Given the description of an element on the screen output the (x, y) to click on. 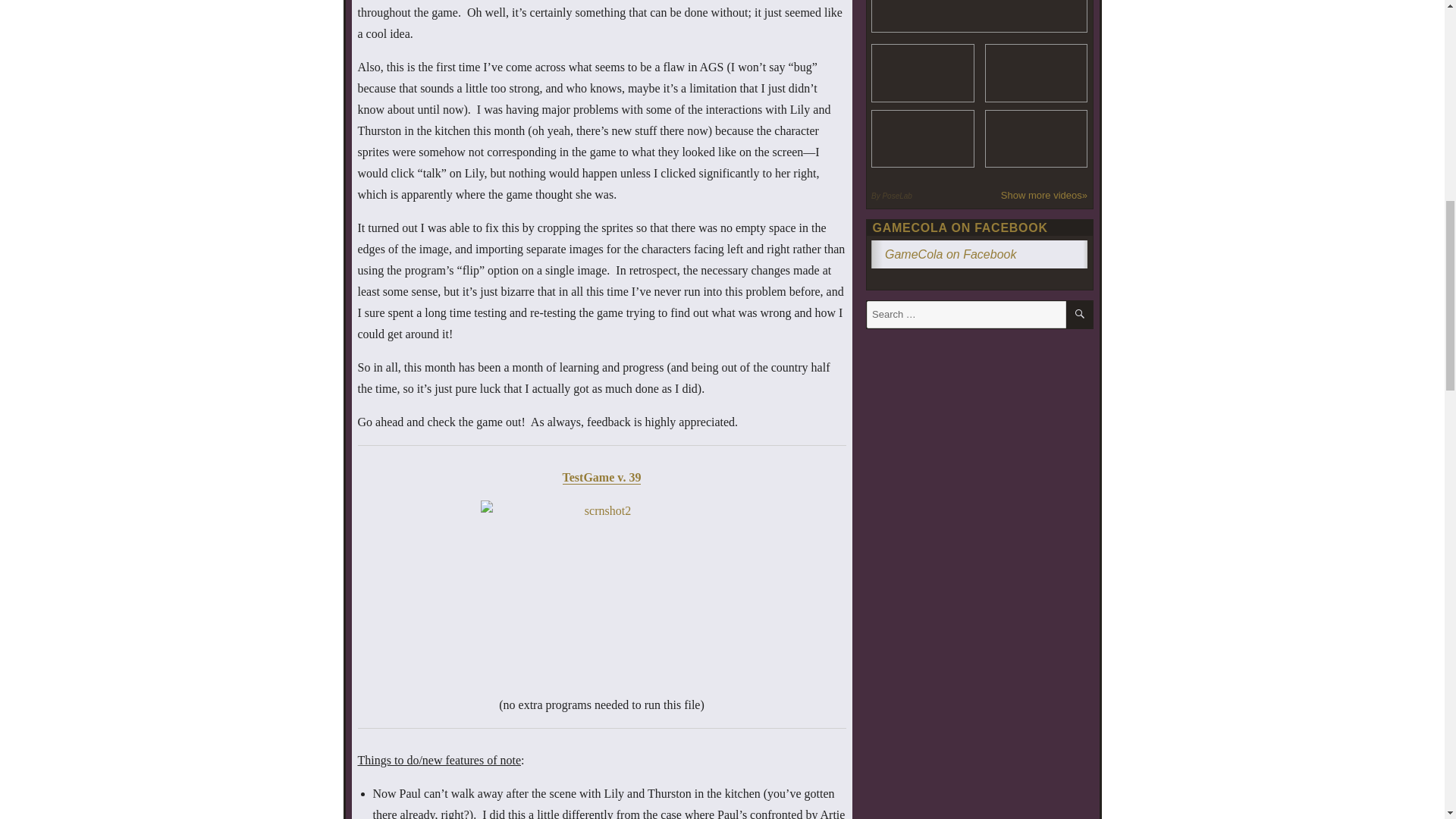
TestGame v. 39 (602, 477)
